Given the description of an element on the screen output the (x, y) to click on. 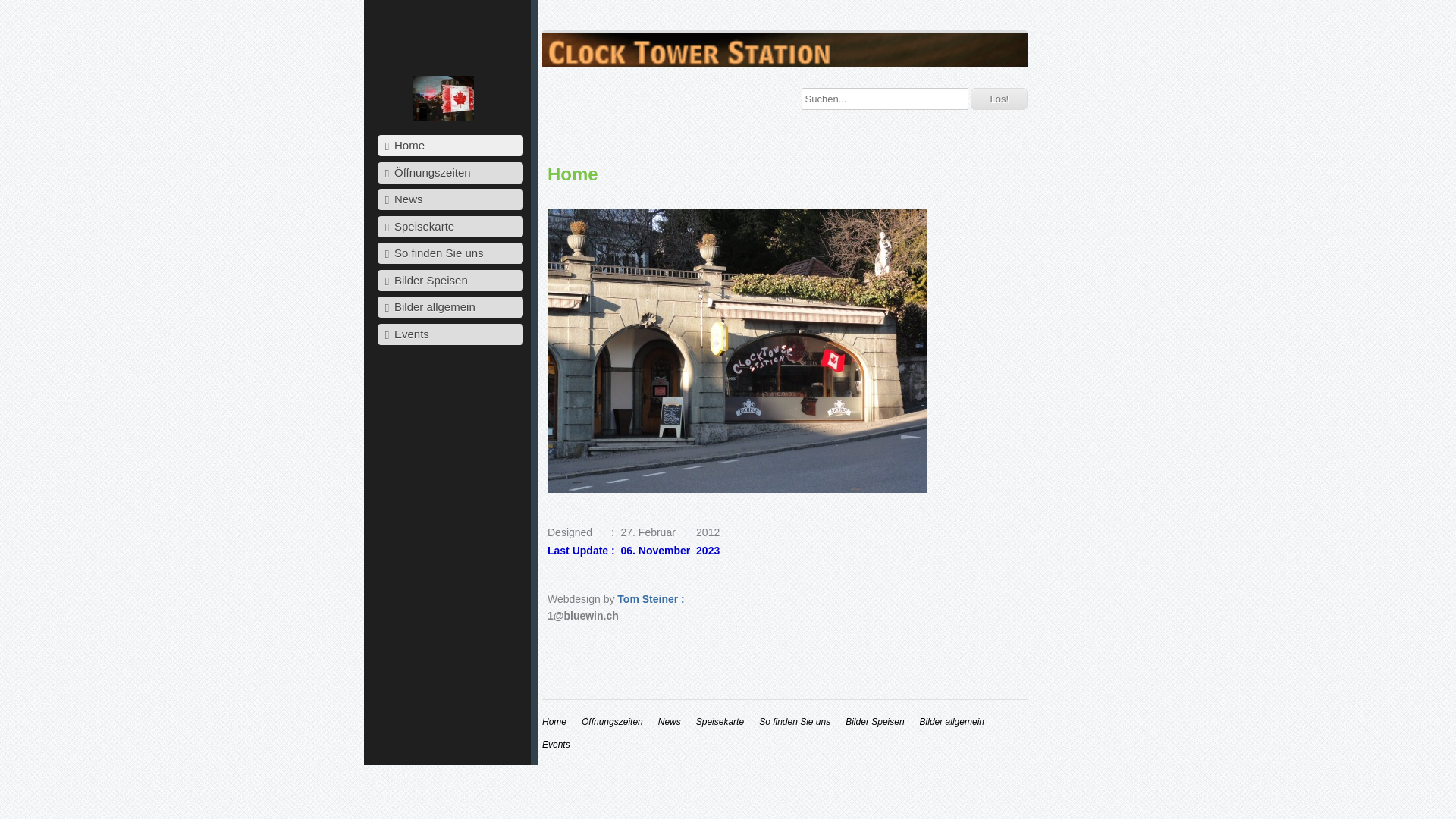
So finden Sie uns Element type: text (450, 252)
Events Element type: text (556, 744)
Tom Steiner : Element type: text (650, 599)
News Element type: text (669, 721)
Events Element type: text (450, 333)
Speisekarte Element type: text (719, 721)
Bilder allgemein Element type: text (951, 721)
Los! Element type: text (998, 98)
So finden Sie uns Element type: text (794, 721)
Bilder Speisen Element type: text (450, 280)
Bilder allgemein Element type: text (450, 306)
Home Element type: text (450, 145)
Speisekarte Element type: text (450, 225)
News Element type: text (450, 199)
Bilder Speisen Element type: text (874, 721)
Home Element type: text (554, 721)
